Given the description of an element on the screen output the (x, y) to click on. 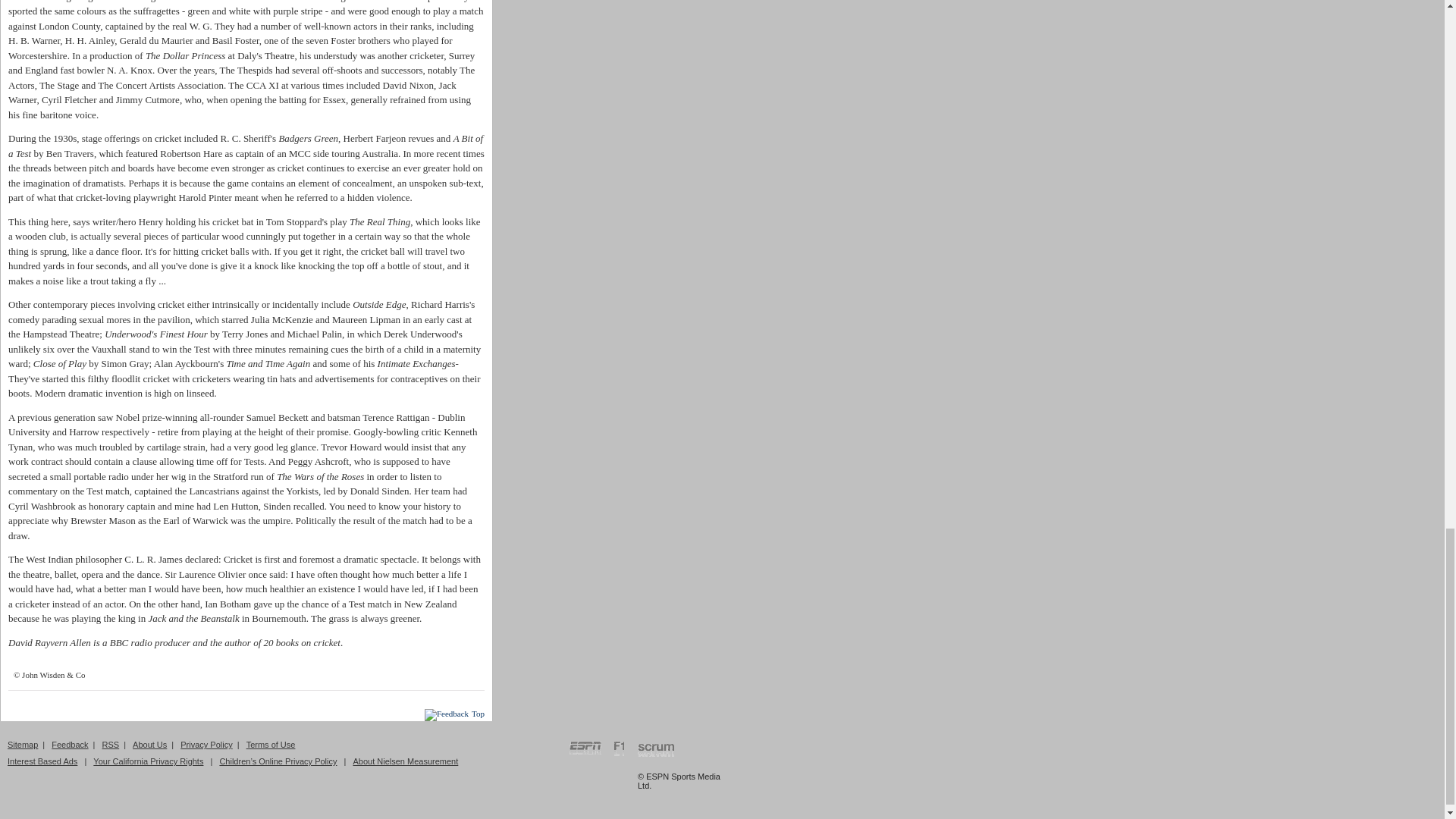
Espnfc (709, 749)
ESPN Scrum (656, 750)
ESPN (585, 749)
Footytips (710, 764)
